Given the description of an element on the screen output the (x, y) to click on. 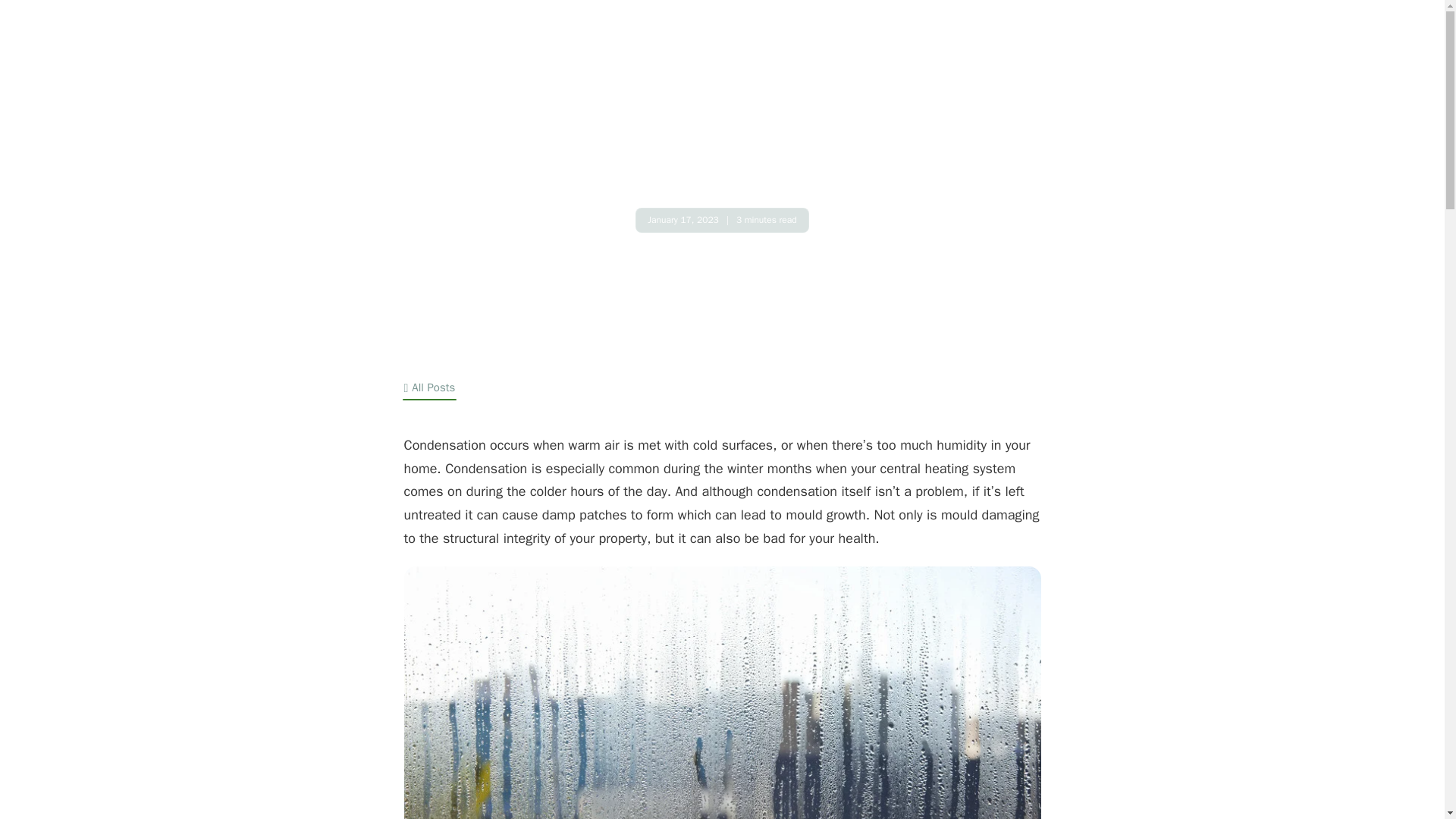
Blog (968, 49)
FAQs (922, 49)
Contact Us (1040, 50)
All Posts (428, 388)
Qualitymark Protection (830, 49)
About Us (729, 49)
